Given the description of an element on the screen output the (x, y) to click on. 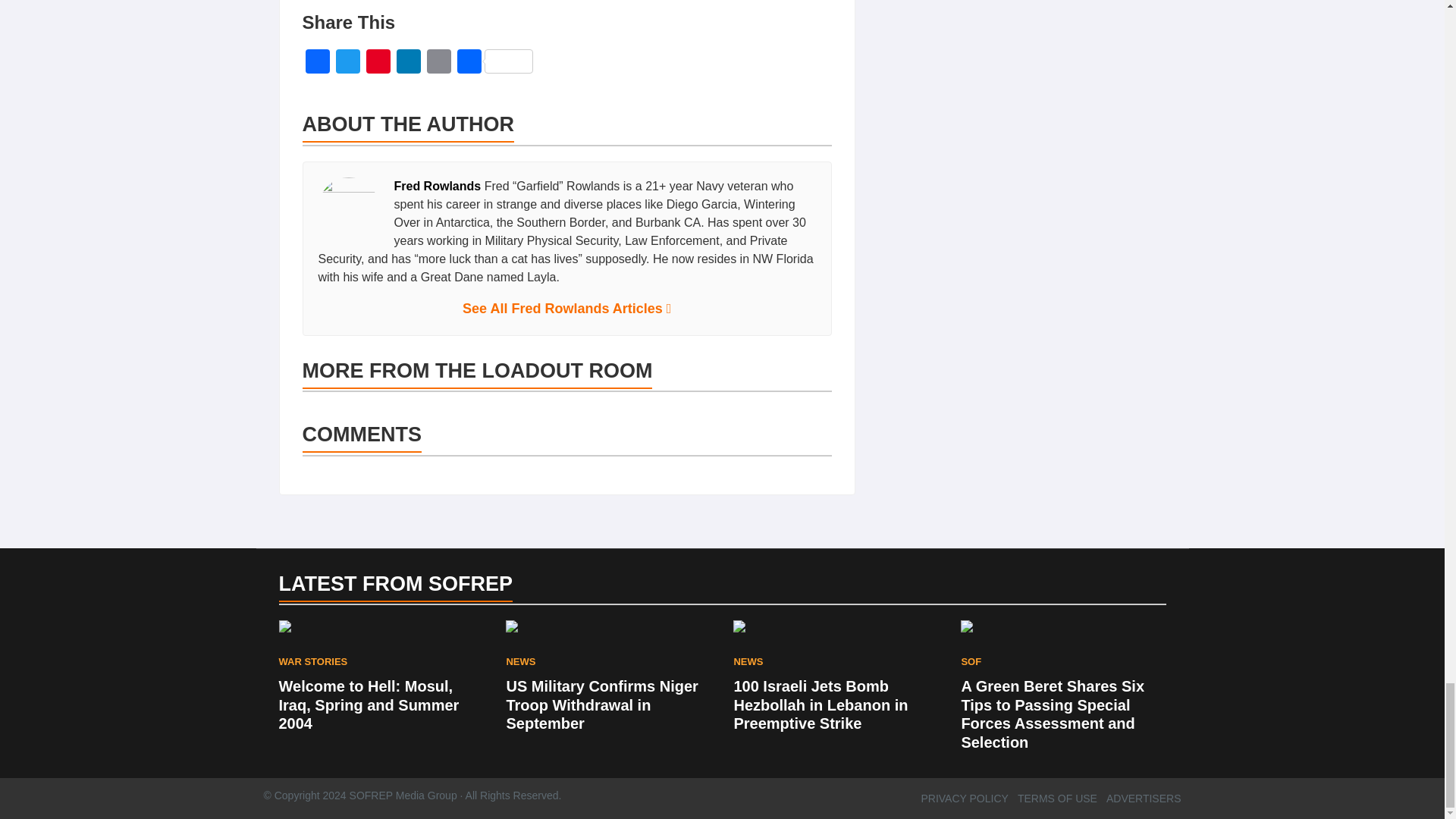
LinkedIn (408, 62)
Posts by Fred Rowlands (437, 185)
Twitter (346, 62)
Facebook (316, 62)
Pinterest (377, 62)
Email (437, 62)
